Given the description of an element on the screen output the (x, y) to click on. 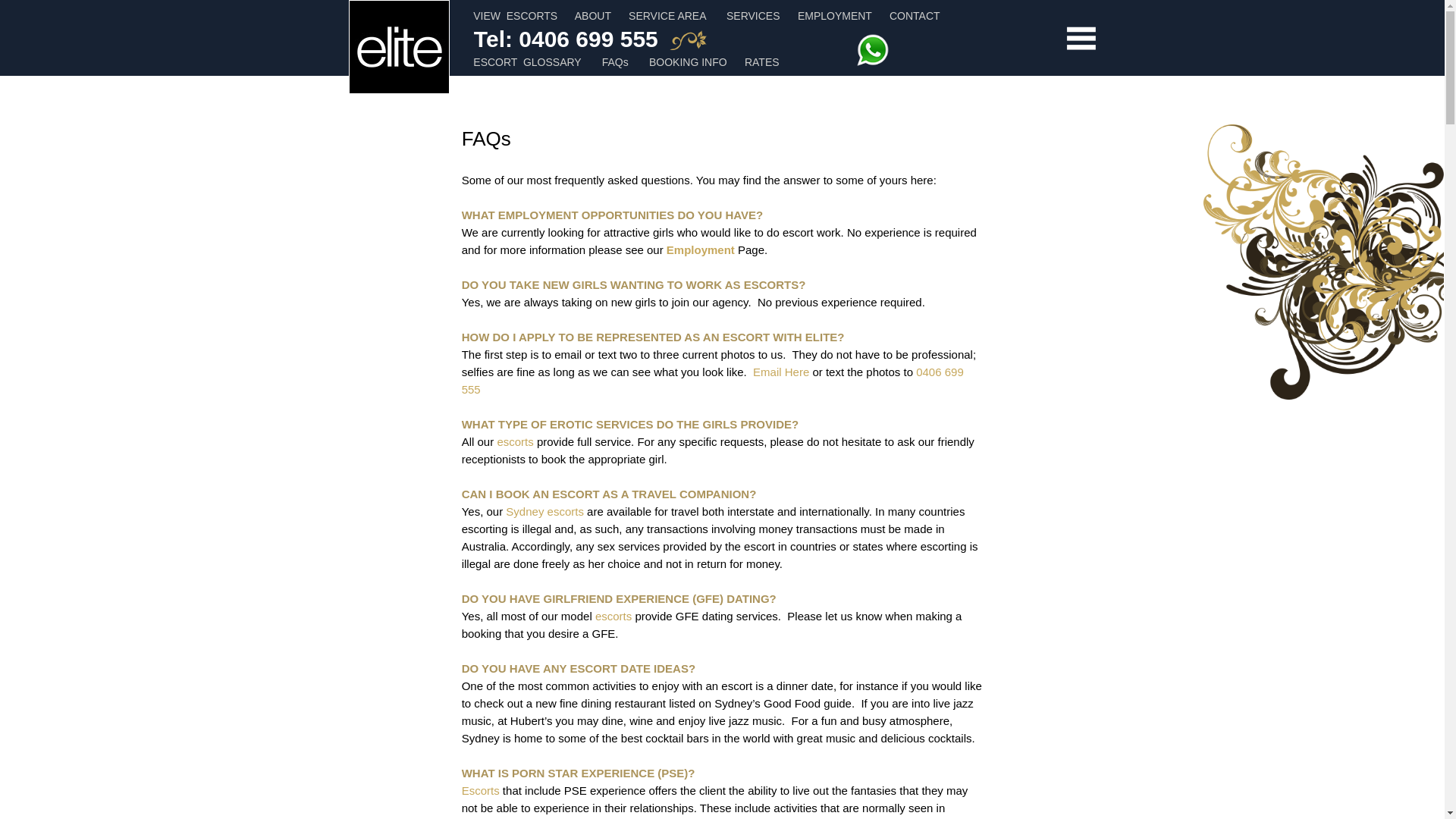
ESCORT  GLOSSARY Element type: text (526, 62)
SERVICES Element type: text (753, 15)
Sydney escorts Element type: text (544, 511)
Escorts Element type: text (480, 790)
FAQs Element type: text (615, 62)
EMPLOYMENT Element type: text (834, 15)
SERVICE AREA Element type: text (667, 15)
Email Here Element type: text (781, 371)
RATES Element type: text (761, 62)
BOOKING INFO Element type: text (688, 62)
0406 699 555 Element type: text (712, 380)
VIEW  ESCORTS Element type: text (515, 15)
escorts Element type: text (514, 441)
ABOUT Element type: text (592, 15)
escorts Element type: text (613, 615)
Employment Element type: text (700, 249)
CONTACT Element type: text (914, 15)
Tel: 0406 699 555 Element type: text (565, 40)
